Given the description of an element on the screen output the (x, y) to click on. 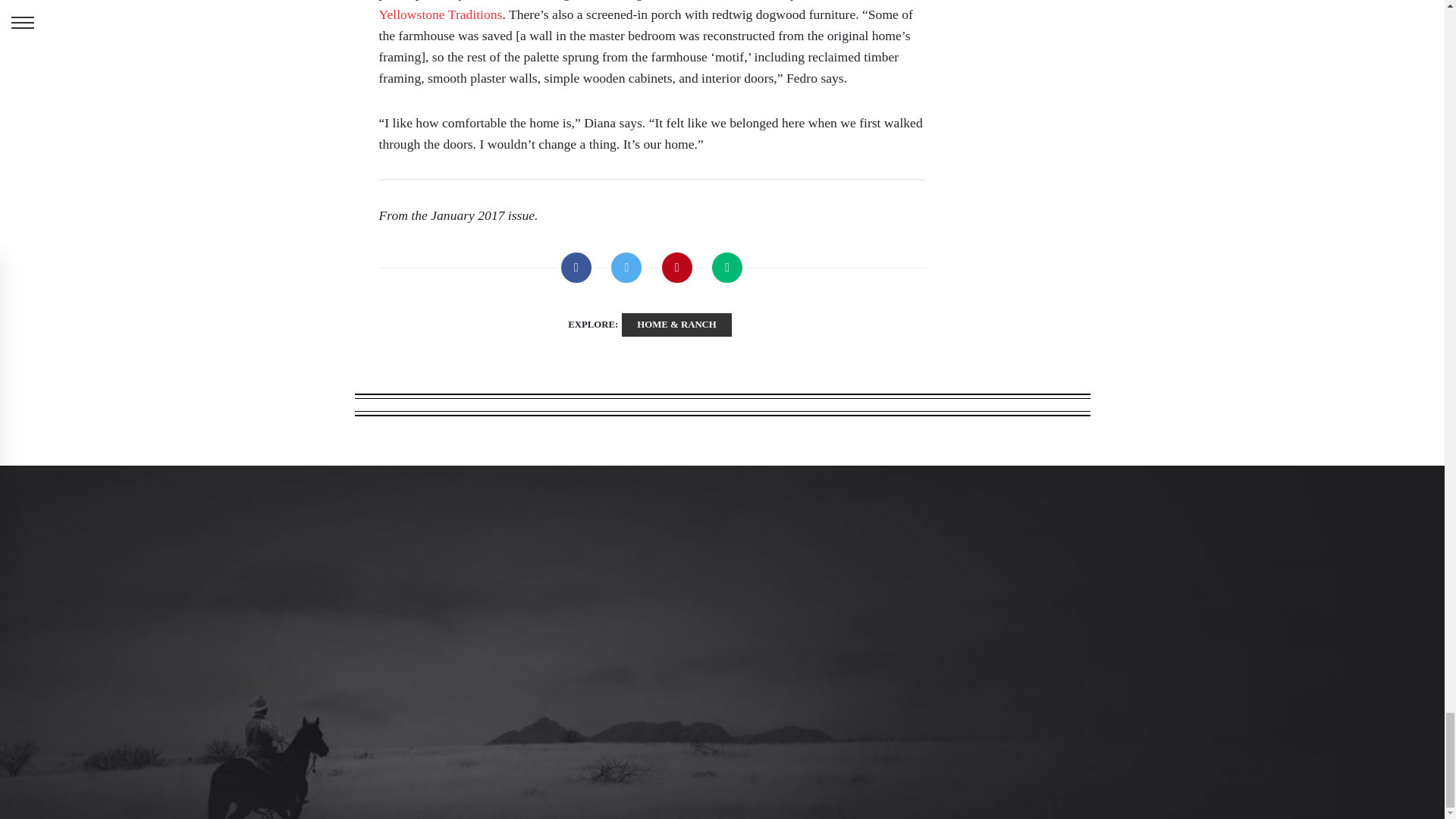
Share on Facebook (576, 267)
Share by Email (726, 267)
Tweet This Post (626, 267)
